Given the description of an element on the screen output the (x, y) to click on. 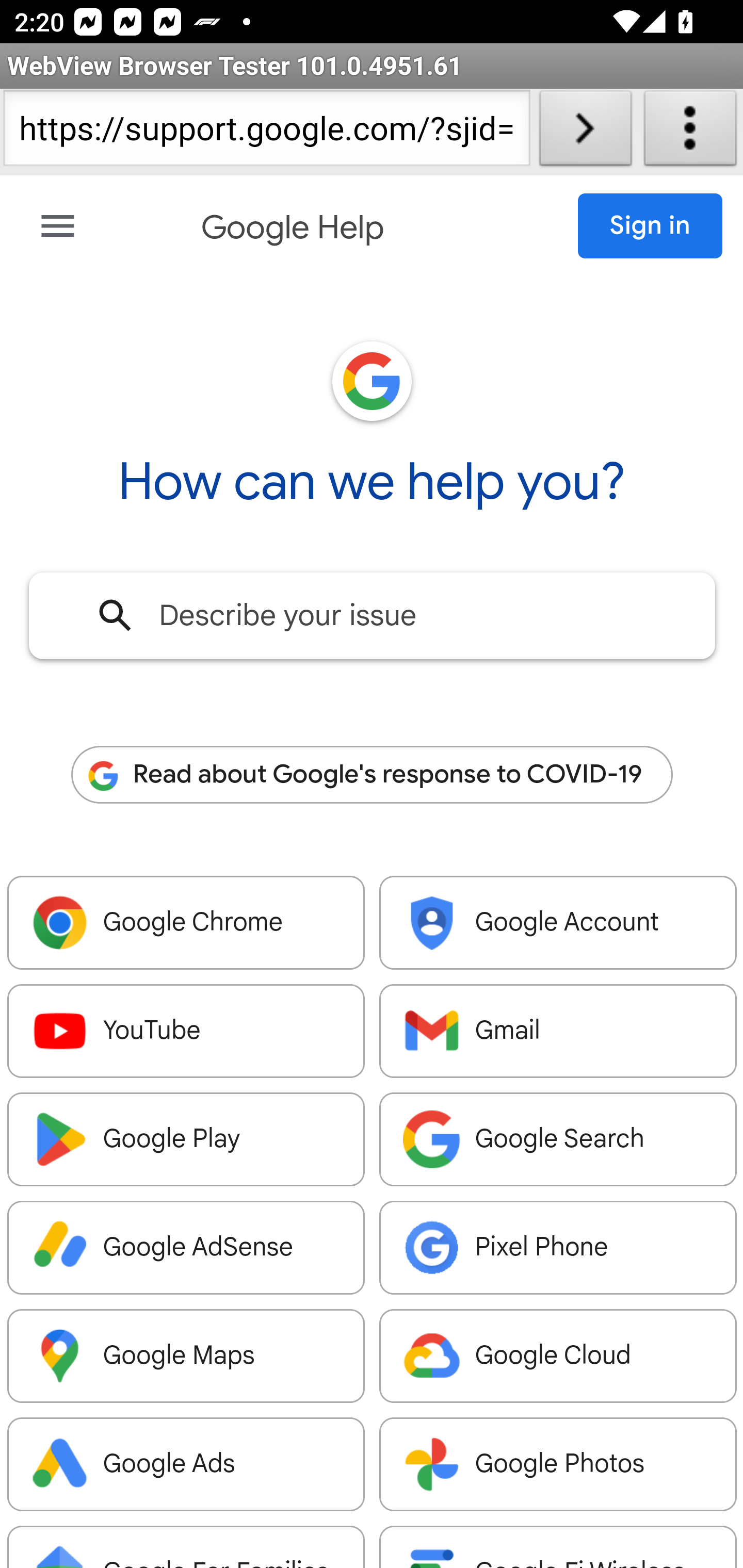
Load URL (585, 132)
About WebView (690, 132)
Main menu (58, 226)
Google Help (292, 227)
Sign in (650, 226)
Search (116, 615)
Google Chrome (186, 923)
Google Account (558, 923)
YouTube (186, 1031)
Gmail (558, 1031)
Google Play (186, 1139)
Google Search (558, 1139)
Google AdSense (186, 1248)
Pixel Phone (558, 1248)
Google Maps (186, 1356)
Google Cloud (558, 1356)
Google Ads (186, 1465)
Google Photos (558, 1465)
